Given the description of an element on the screen output the (x, y) to click on. 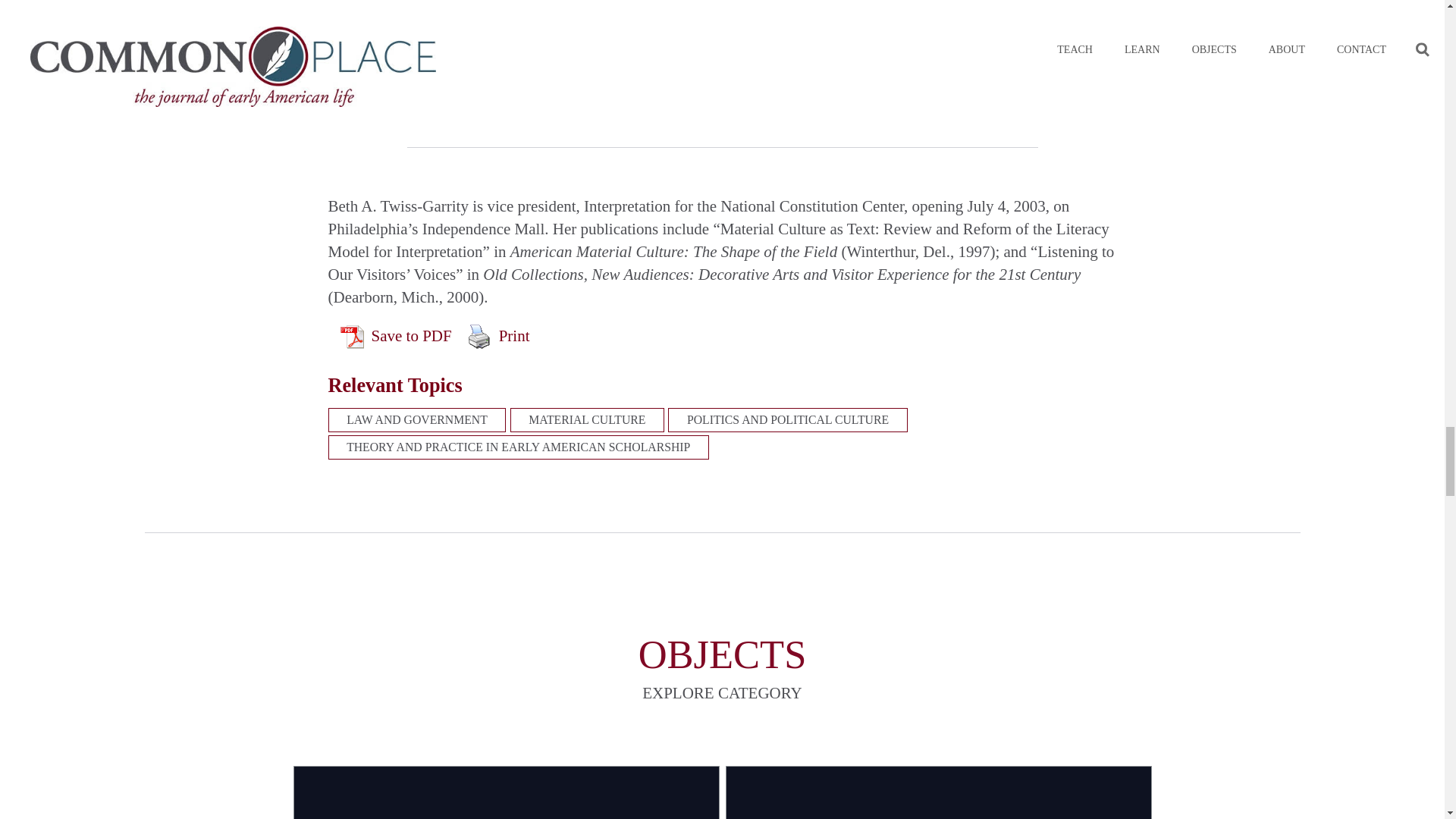
Save to PDF (395, 336)
Print (498, 336)
Print Content (479, 336)
THEORY AND PRACTICE IN EARLY AMERICAN SCHOLARSHIP (517, 446)
MATERIAL CULTURE (587, 419)
View PDF (350, 336)
LAW AND GOVERNMENT (416, 419)
POLITICS AND POLITICAL CULTURE (787, 419)
